Given the description of an element on the screen output the (x, y) to click on. 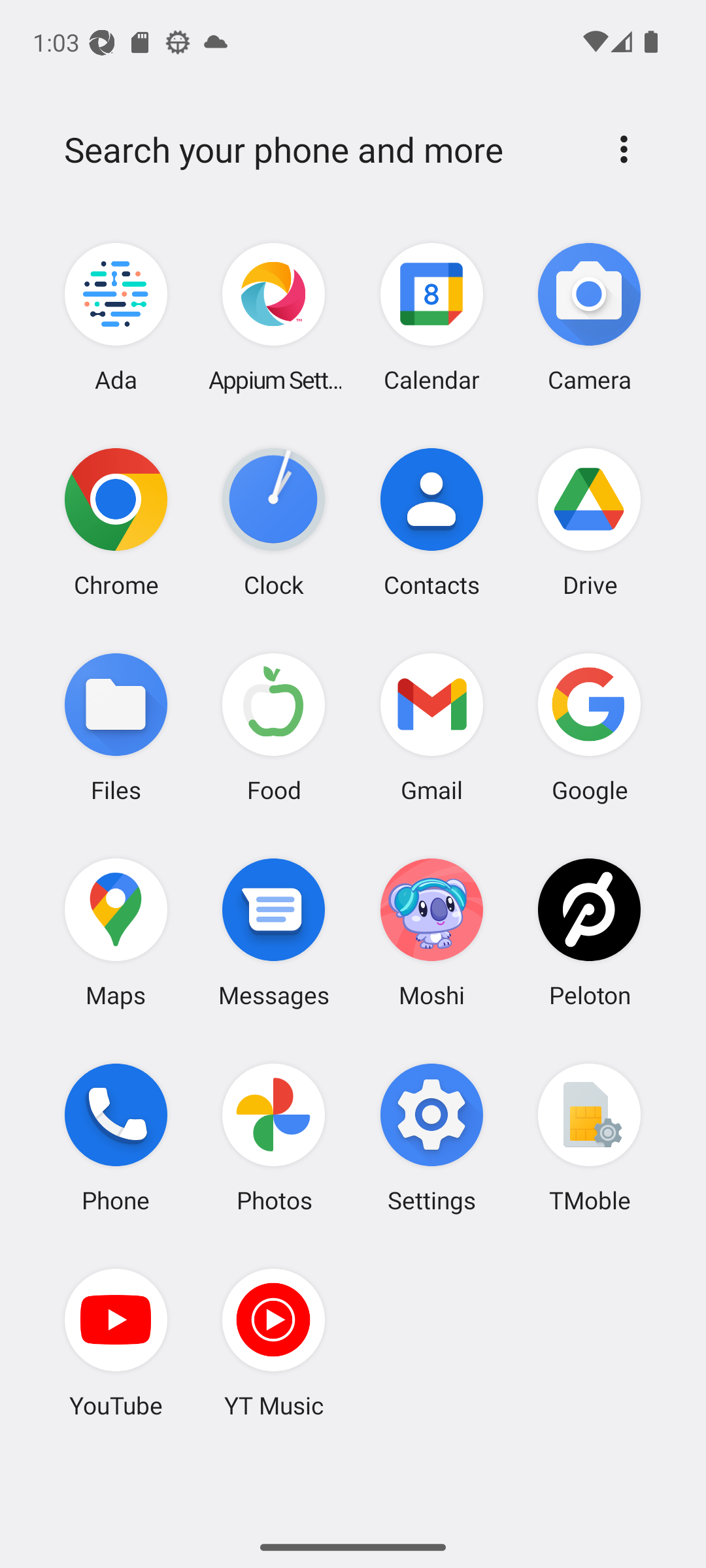
Search your phone and more (321, 149)
Preferences (623, 149)
Ada (115, 317)
Appium Settings (273, 317)
Calendar (431, 317)
Camera (589, 317)
Chrome (115, 522)
Clock (273, 522)
Contacts (431, 522)
Drive (589, 522)
Files (115, 726)
Food (273, 726)
Gmail (431, 726)
Google (589, 726)
Maps (115, 931)
Messages (273, 931)
Moshi (431, 931)
Peloton (589, 931)
Phone (115, 1137)
Photos (273, 1137)
Settings (431, 1137)
TMoble (589, 1137)
YouTube (115, 1342)
YT Music (273, 1342)
